Given the description of an element on the screen output the (x, y) to click on. 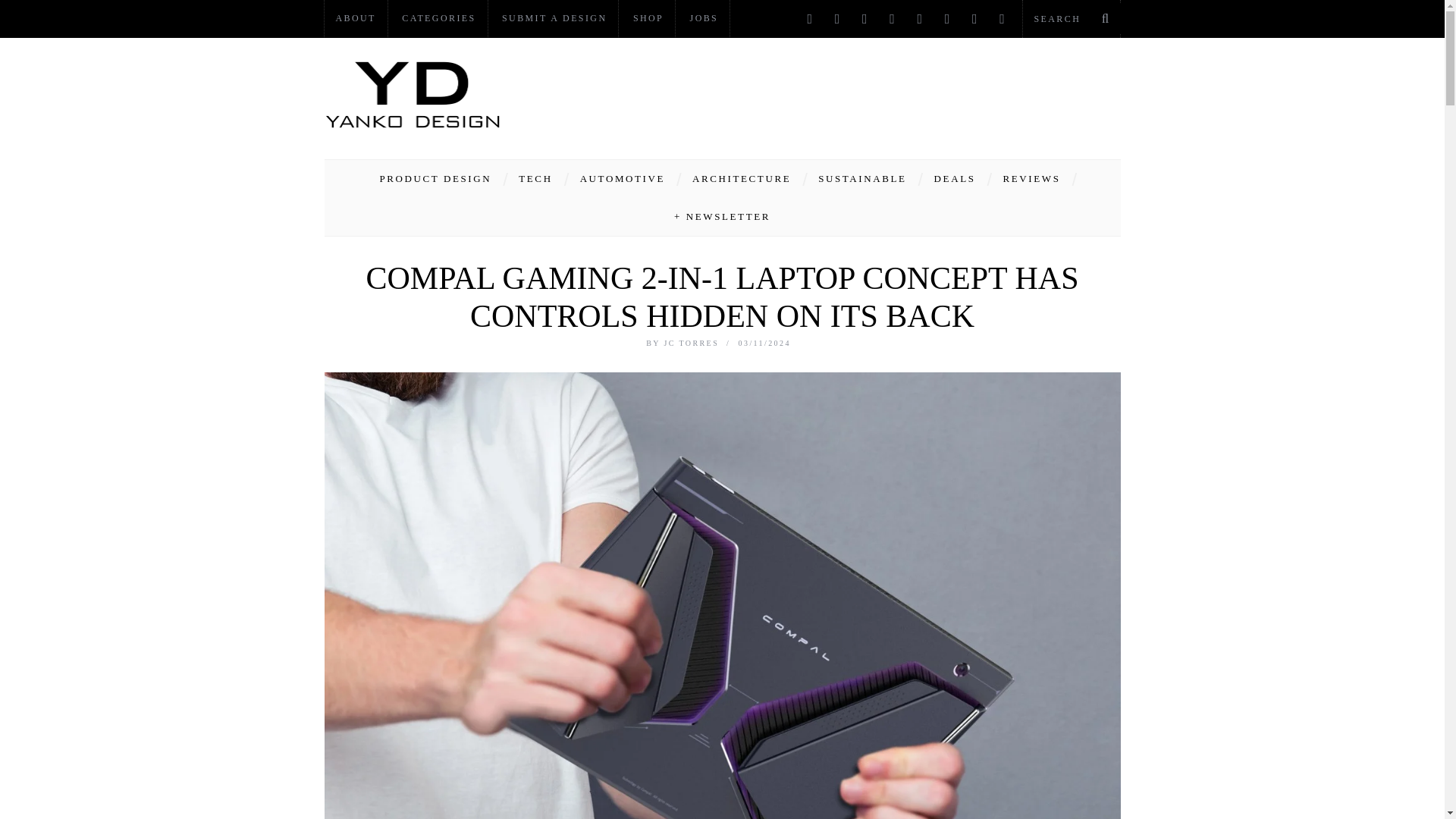
Search (1071, 18)
JOBS (704, 18)
ABOUT (355, 18)
SHOP (648, 18)
SUBMIT A DESIGN (553, 18)
CATEGORIES (438, 18)
